Given the description of an element on the screen output the (x, y) to click on. 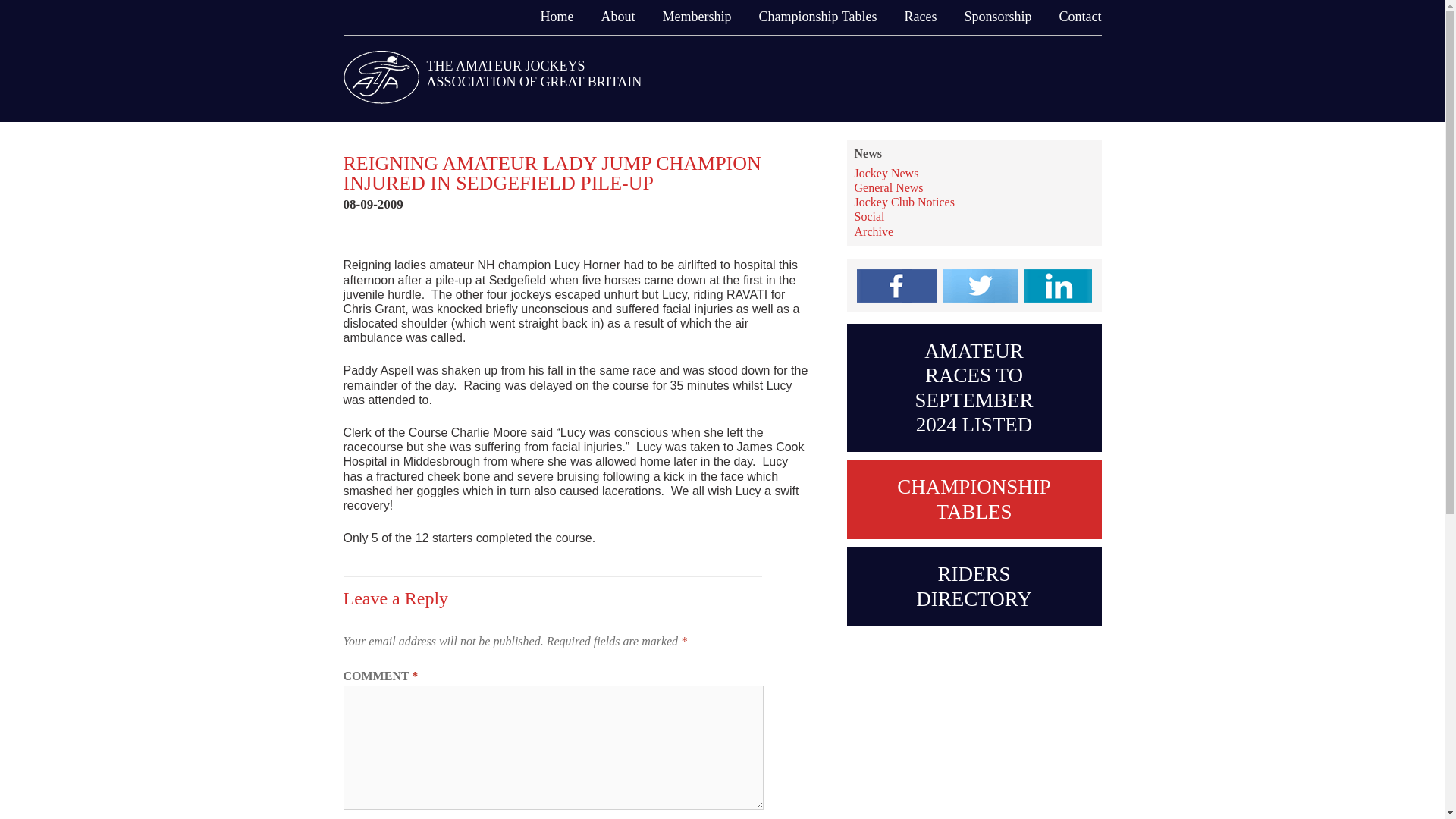
CHAMPIONSHIP TABLES (972, 498)
Championship Tables (813, 16)
Races (915, 16)
Home (552, 16)
Sponsorship (992, 16)
General News (888, 187)
About (613, 16)
AMATEUR RACES TO SEPTEMBER 2024 LISTED (972, 387)
Contact (1074, 16)
Membership (692, 16)
